Given the description of an element on the screen output the (x, y) to click on. 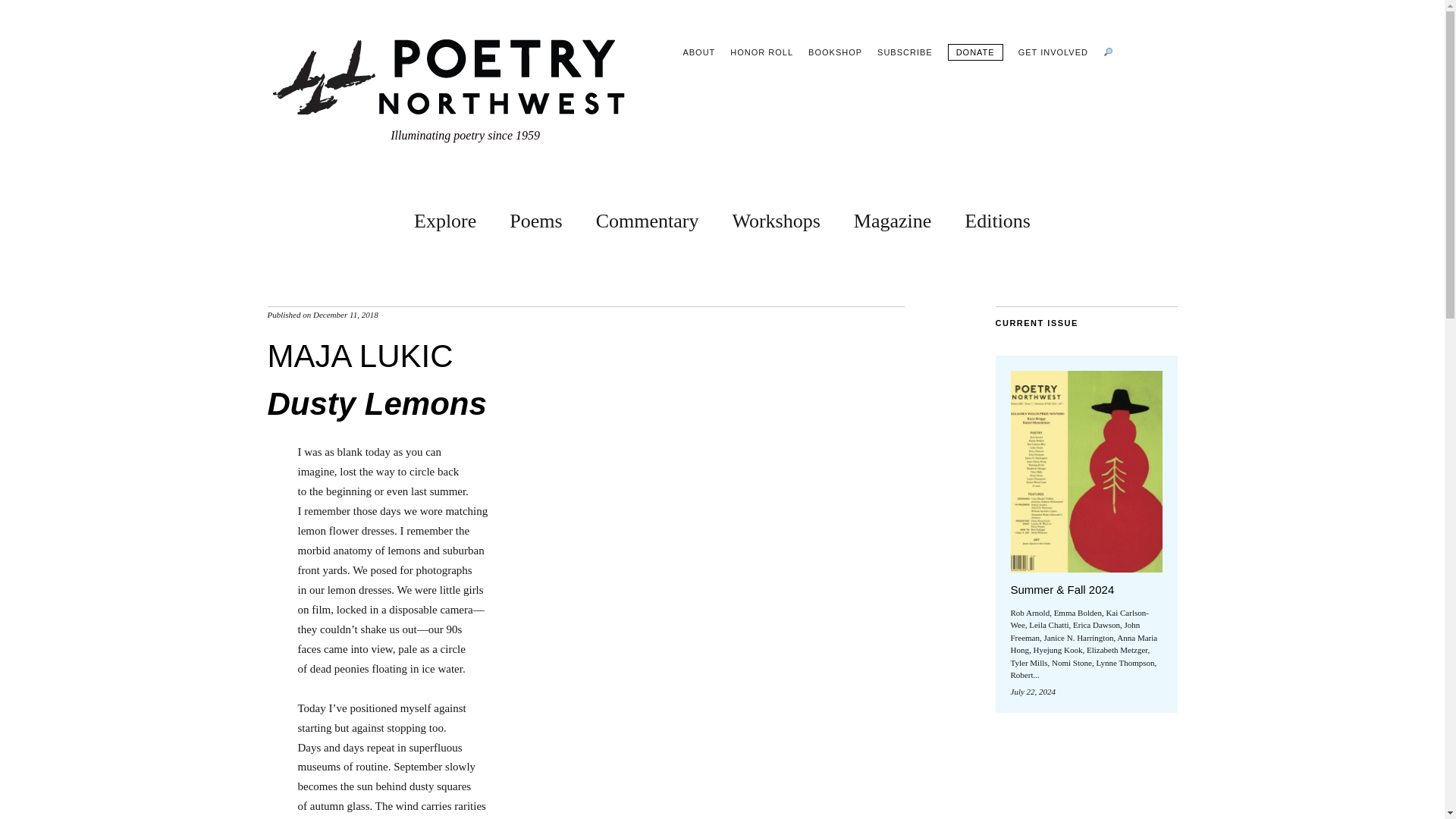
BOOKSHOP (834, 51)
ABOUT (698, 51)
December 11, 2018 (345, 314)
DONATE (975, 52)
Editions (996, 217)
Poems (535, 217)
HONOR ROLL (761, 51)
SUBSCRIBE (905, 51)
Workshops (775, 217)
GET INVOLVED (1052, 51)
Explore (444, 217)
Commentary (646, 217)
Magazine (892, 217)
